Given the description of an element on the screen output the (x, y) to click on. 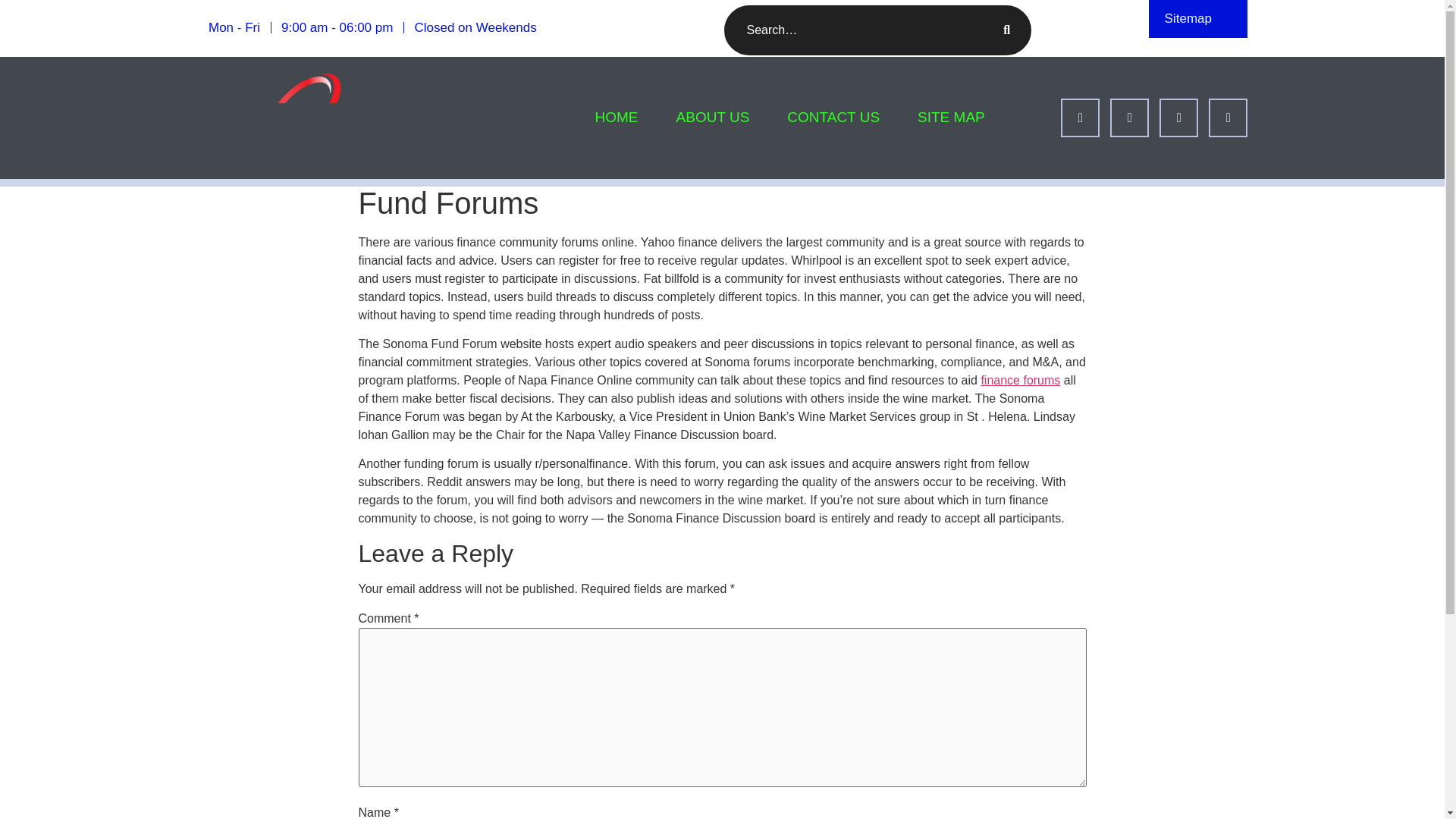
CONTACT US (833, 117)
ABOUT US (713, 117)
Sitemap (1187, 18)
SITE MAP (941, 117)
finance forums (1019, 379)
